Given the description of an element on the screen output the (x, y) to click on. 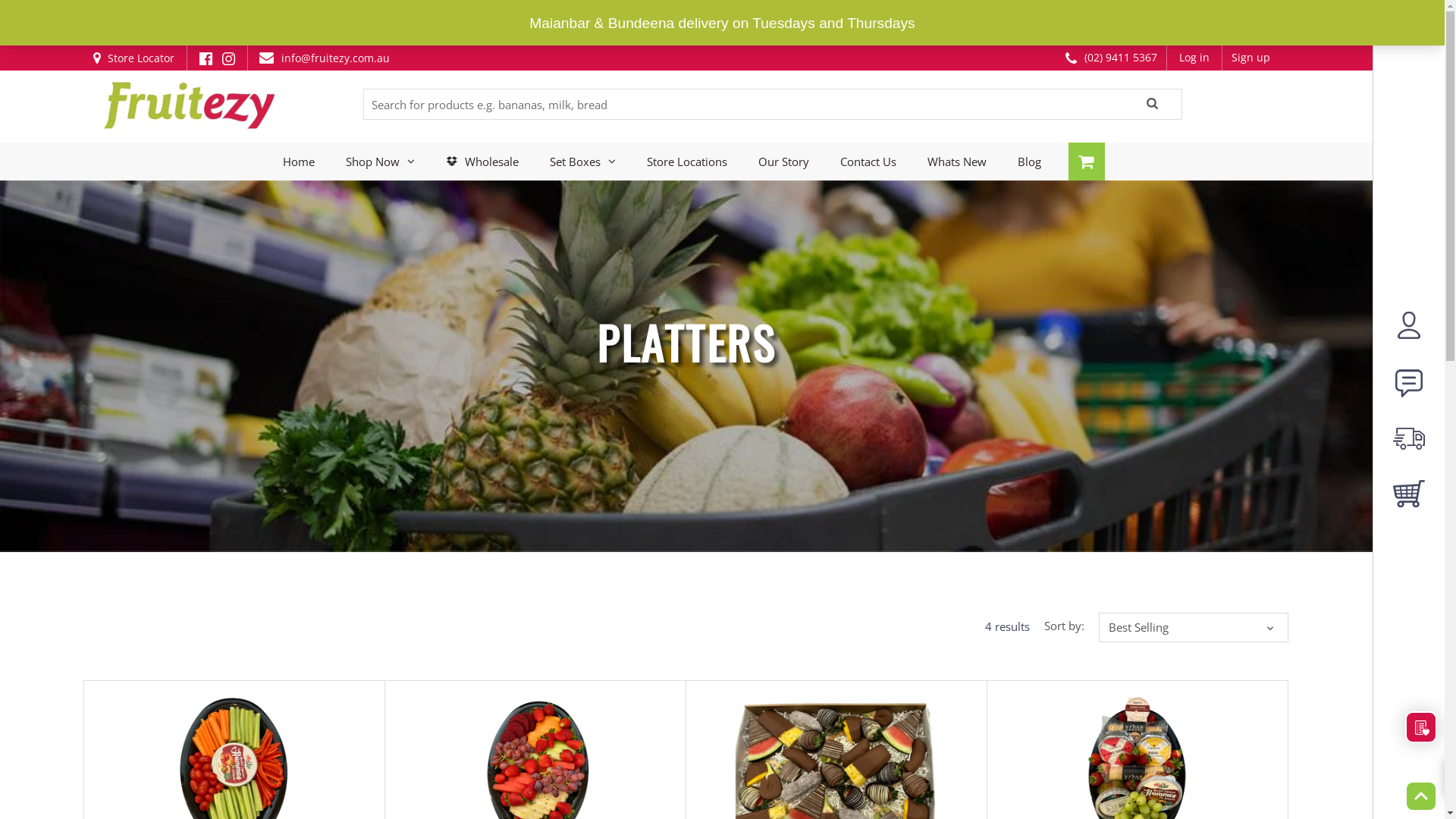
Facebook Element type: text (205, 11)
Contact Us Element type: text (868, 161)
Store Locations Element type: text (686, 161)
info@fruitezy.com.au Element type: text (322, 12)
Blog Element type: text (1029, 161)
Set Boxes Element type: text (582, 161)
MY SHOPPING LIST Element type: text (1421, 727)
Home Element type: text (298, 115)
Instagram Element type: text (228, 11)
(02) 9411 5367 Element type: text (1111, 11)
Shop Now Element type: text (379, 115)
Whats New Element type: text (956, 161)
Log in Element type: text (1194, 11)
Sign up Element type: text (1250, 11)
Store Locator Element type: text (139, 12)
Wholesale Element type: text (481, 161)
Our Story Element type: text (783, 161)
